Given the description of an element on the screen output the (x, y) to click on. 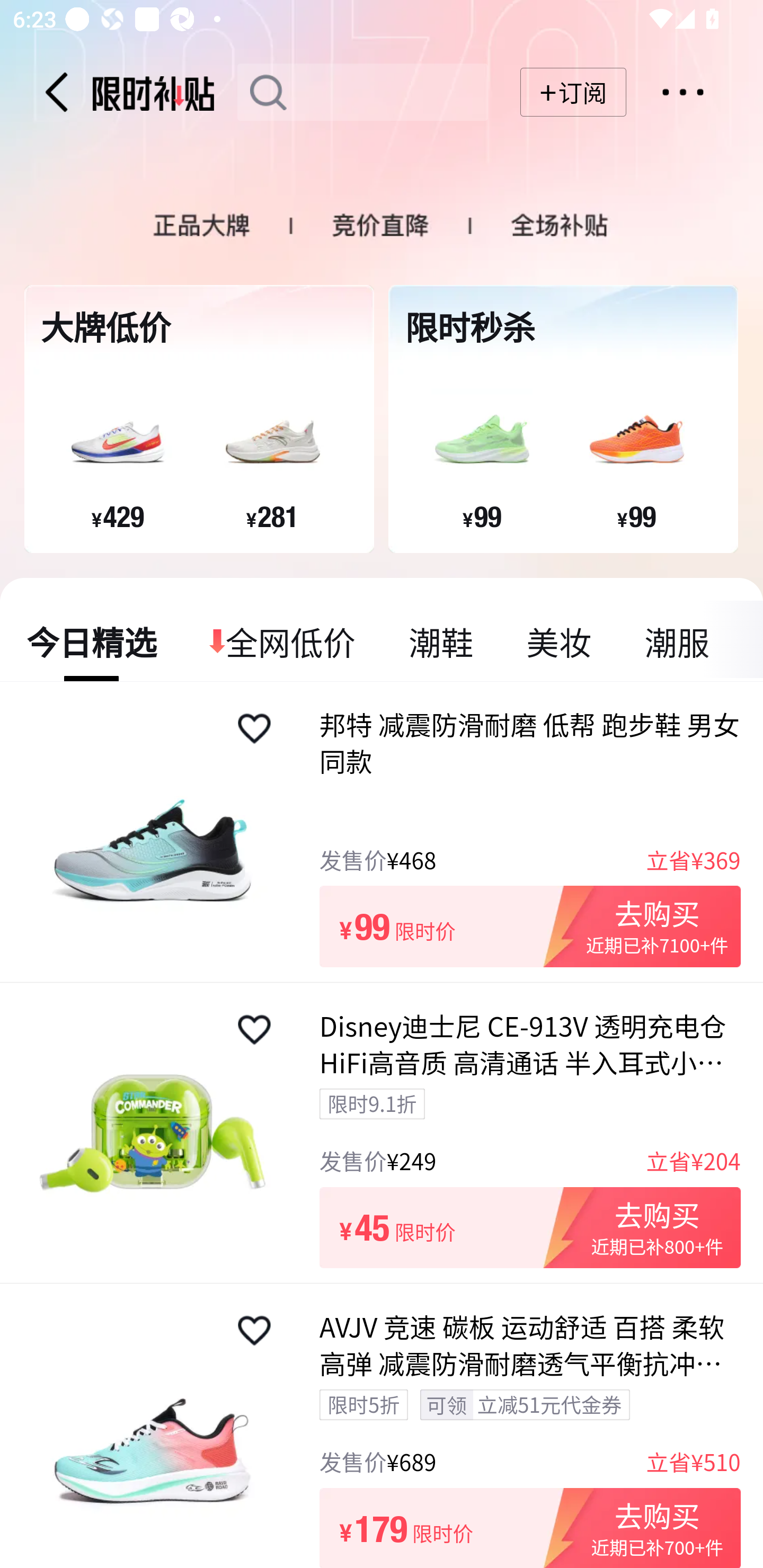
+订阅 (572, 92)
resize,w_152 ¥429 (117, 443)
resize,w_152 ¥281 (271, 443)
resize,w_152 ¥99 (481, 443)
resize,w_152 ¥99 (636, 443)
¥429 (118, 516)
¥281 (272, 516)
¥99 (482, 516)
¥99 (636, 516)
今日精选 (92, 640)
9e7fc8ca-86cd-3a08-4a56-57b9d219ca85-30-45 全网低价 (283, 640)
潮鞋 (440, 640)
美妆 (558, 640)
潮服 (676, 640)
resize,w_60 (254, 728)
resize,w_60 (254, 1030)
resize,w_60 (254, 1331)
